Given the description of an element on the screen output the (x, y) to click on. 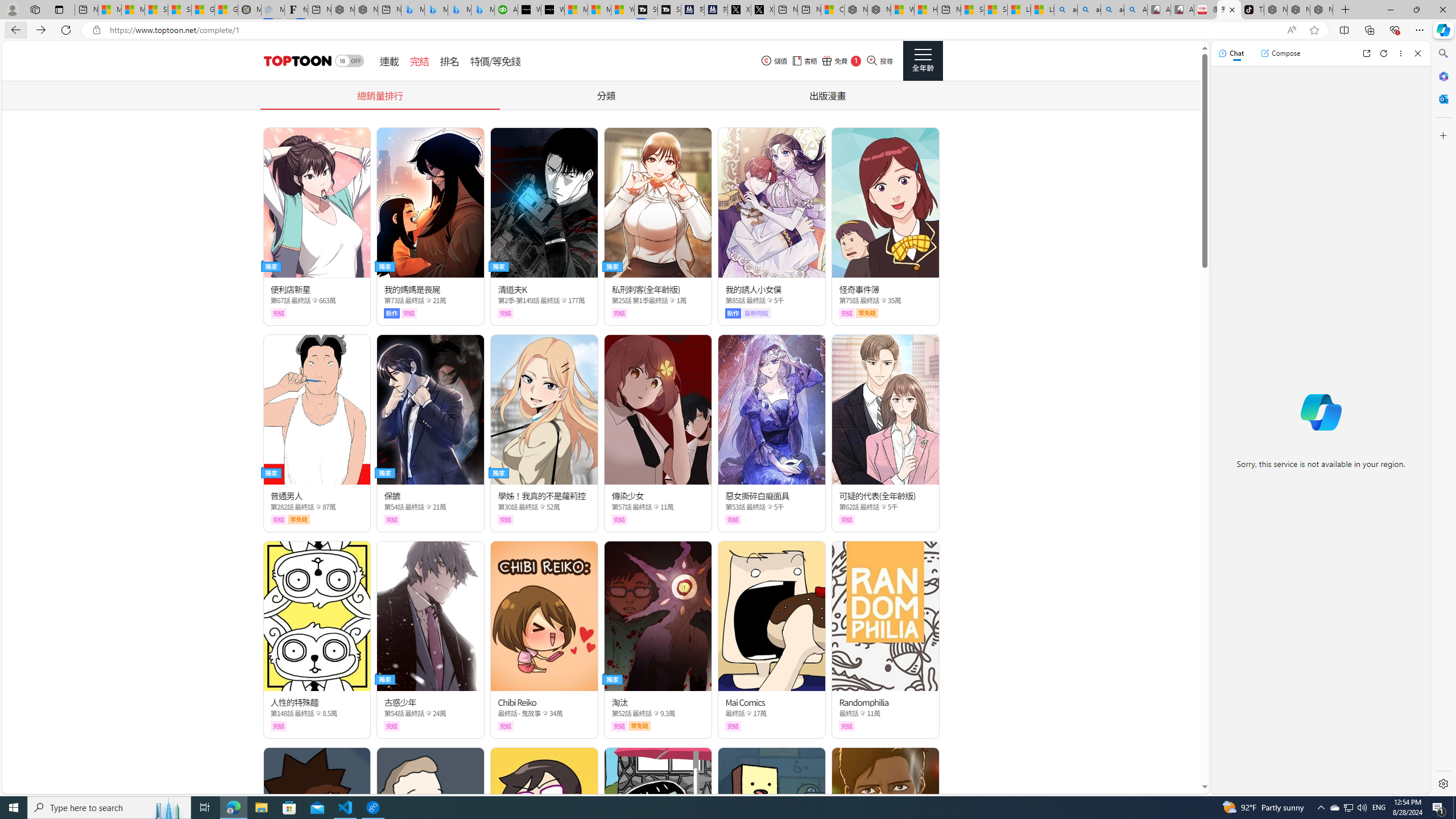
Settings (1442, 783)
Huge shark washes ashore at New York City beach | Watch (926, 9)
Nordace Siena Pro 15 Backpack (1298, 9)
Side bar (1443, 418)
Customize (1442, 135)
More options (1401, 53)
Open link in new tab (1366, 53)
Chat (1231, 52)
